Given the description of an element on the screen output the (x, y) to click on. 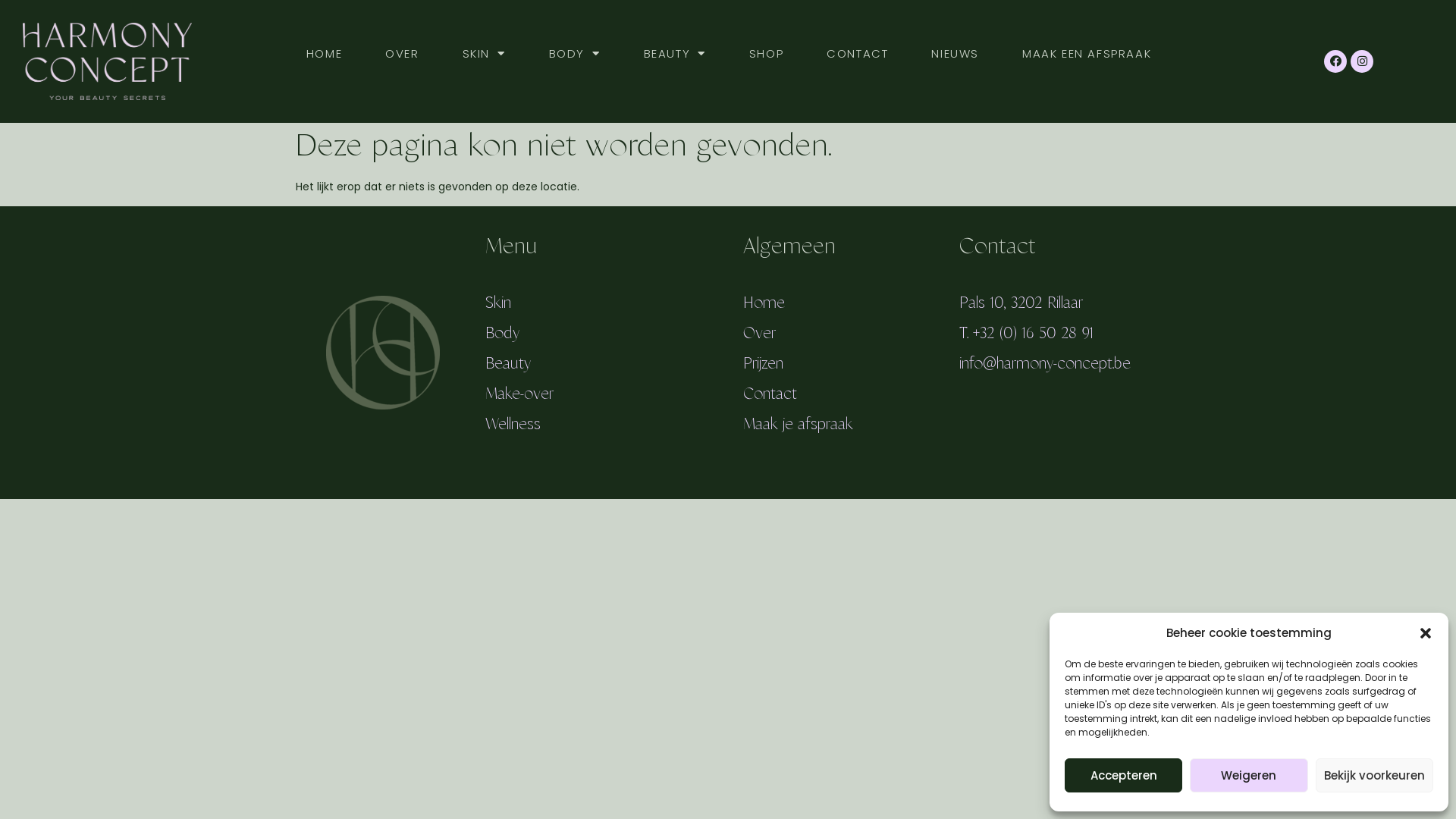
Contact Element type: text (770, 393)
Prijzen Element type: text (763, 363)
Skin Element type: text (498, 302)
Body Element type: text (502, 333)
Maak je afspraak Element type: text (798, 424)
Make-over Element type: text (519, 393)
T. +32 (0) 16 50 28 91 Element type: text (1026, 333)
Bekijk voorkeuren Element type: text (1374, 775)
Wellness Element type: text (512, 424)
NIEUWS Element type: text (954, 53)
Weigeren Element type: text (1248, 775)
info@harmony-concept.be Element type: text (1044, 363)
Home Element type: text (763, 302)
CONTACT Element type: text (856, 53)
Pals 10, 3202 Rillaar Element type: text (1020, 302)
OVER Element type: text (401, 53)
Over Element type: text (759, 333)
Accepteren Element type: text (1123, 775)
SKIN Element type: text (483, 53)
SHOP Element type: text (766, 53)
Beauty Element type: text (507, 363)
MAAK EEN AFSPRAAK Element type: text (1086, 53)
BEAUTY Element type: text (674, 53)
HOME Element type: text (323, 53)
BODY Element type: text (574, 53)
